Given the description of an element on the screen output the (x, y) to click on. 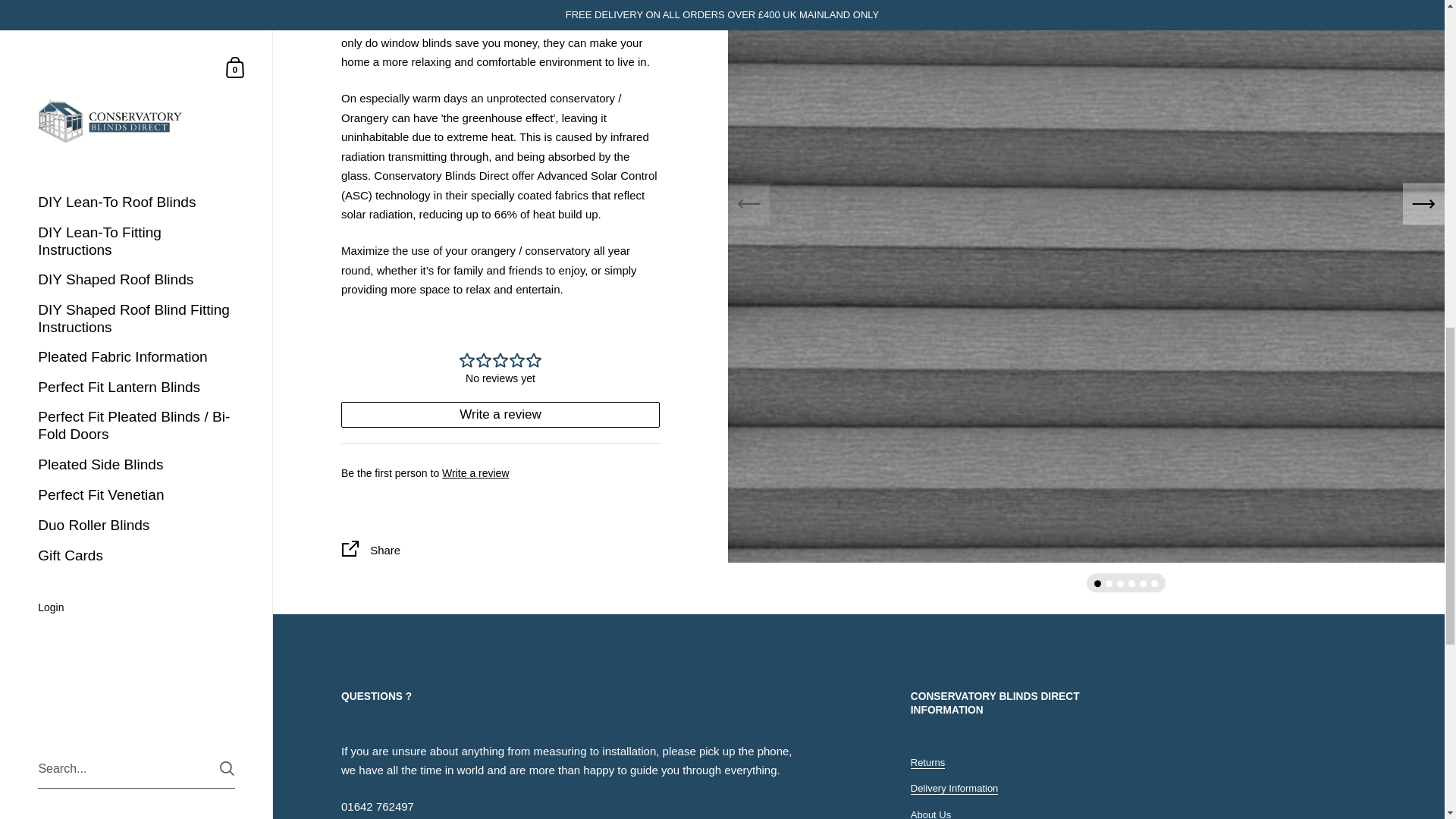
About Us (930, 814)
Share (499, 551)
Returns (927, 762)
Delivery Information (954, 788)
